Given the description of an element on the screen output the (x, y) to click on. 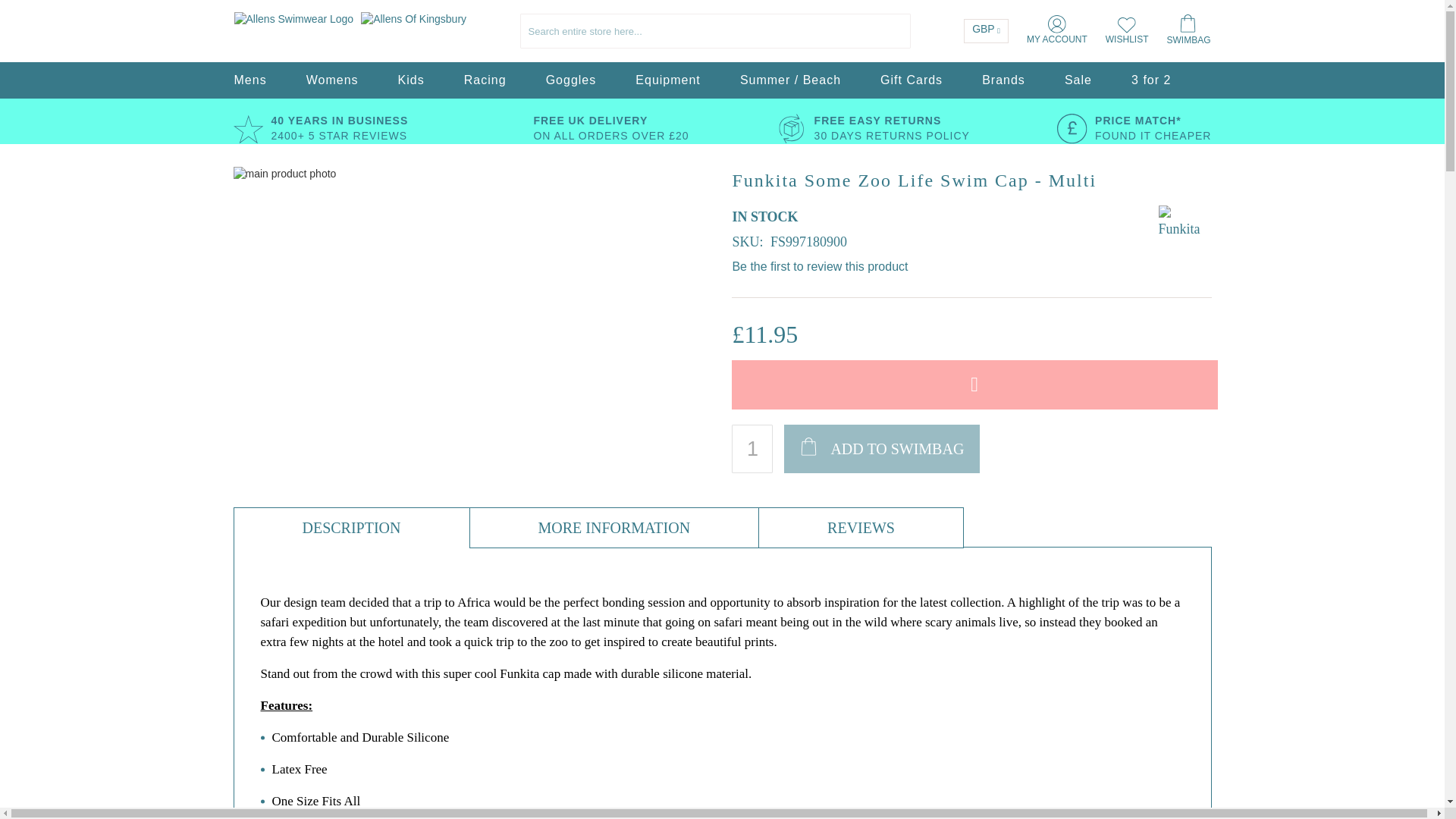
Allens Swimwear Logo (348, 31)
Mens (249, 80)
Allens Swimwear Logo (292, 19)
Mens (249, 80)
